Given the description of an element on the screen output the (x, y) to click on. 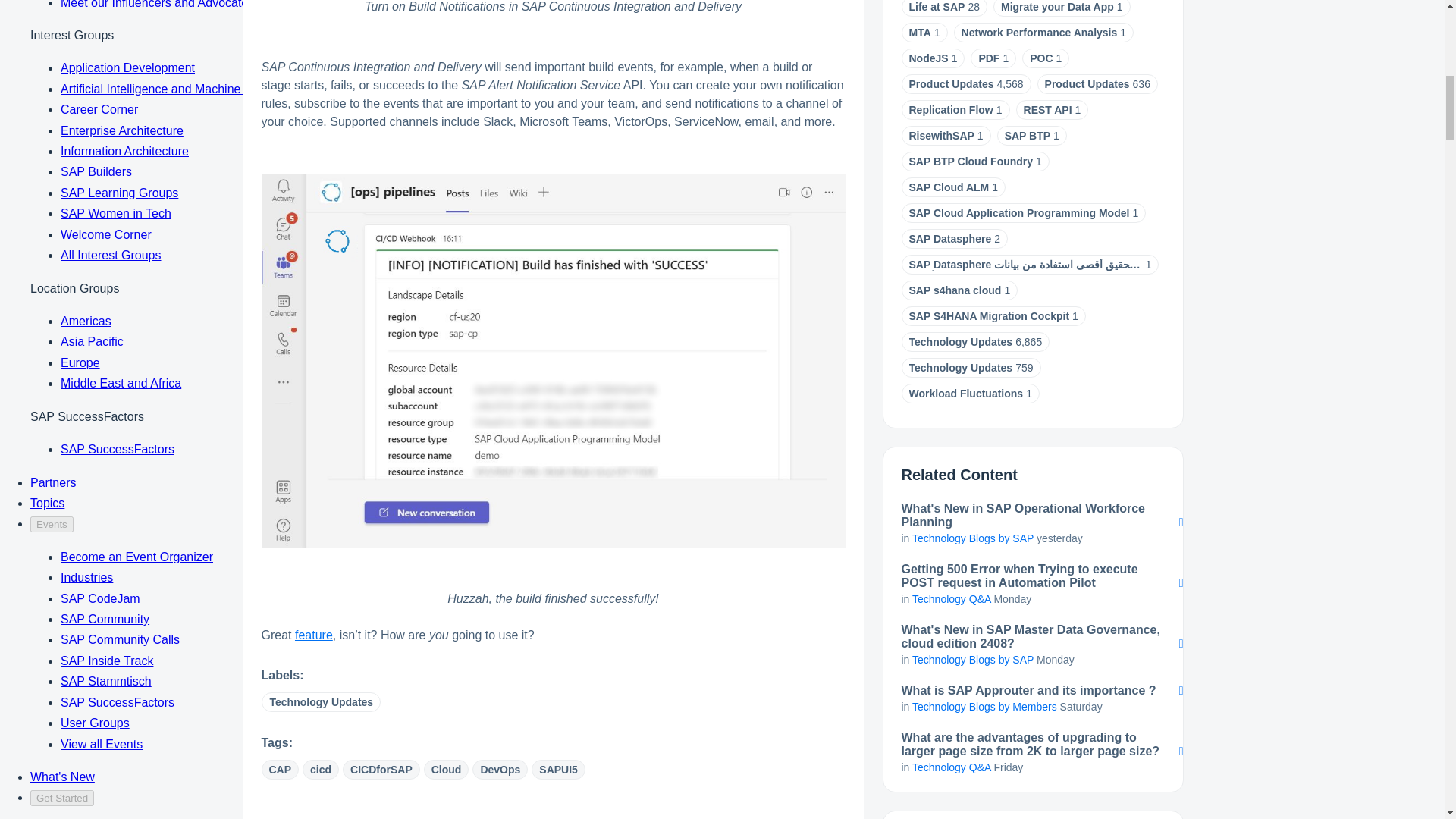
Technology Updates (320, 701)
CICDforSAP (381, 769)
Cloud (445, 769)
DevOps (499, 769)
CAP (279, 769)
cicd (320, 769)
feature (314, 634)
SAPUI5 (558, 769)
